Given the description of an element on the screen output the (x, y) to click on. 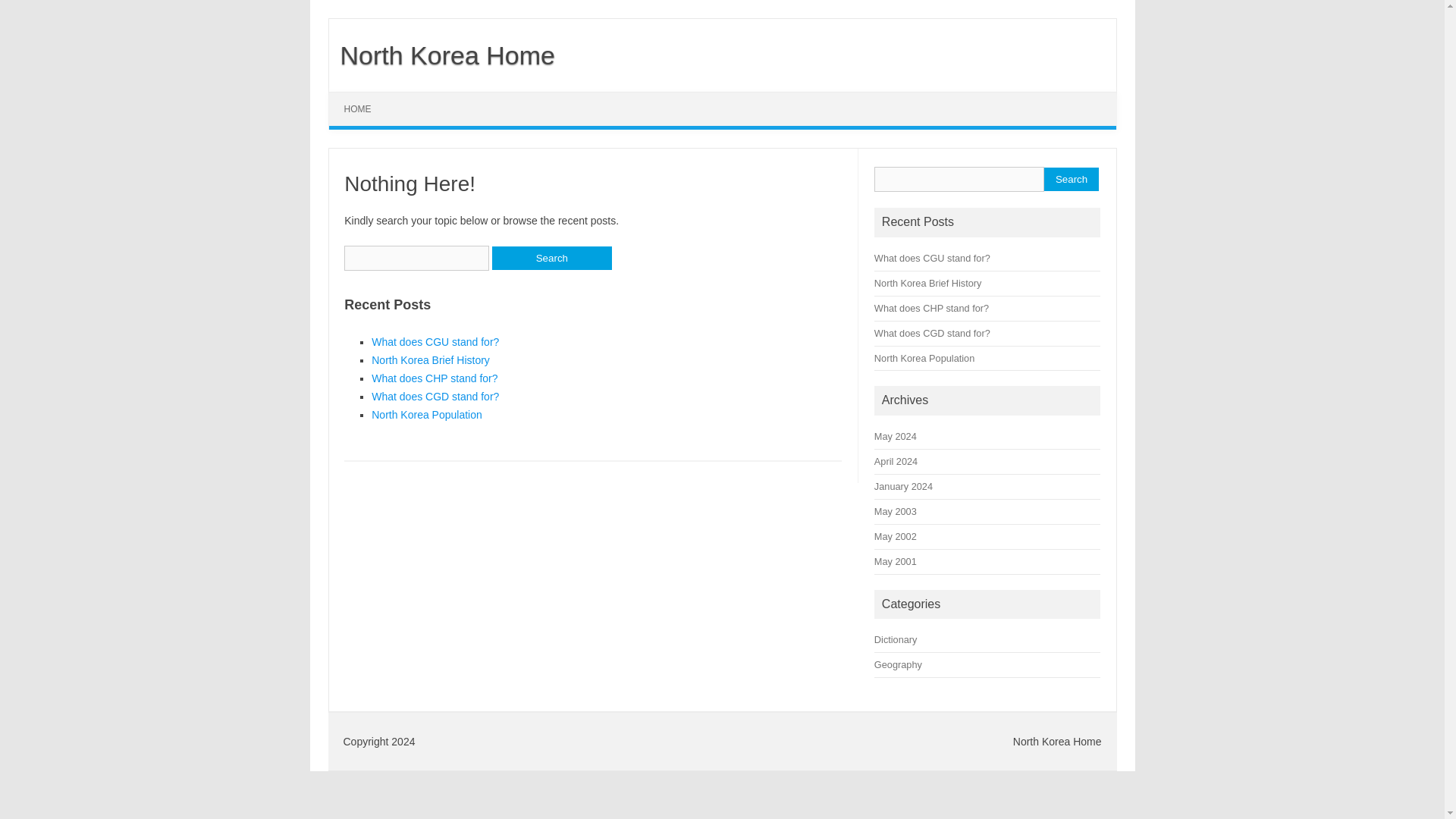
Search (551, 258)
January 2024 (904, 486)
May 2003 (896, 511)
What does CHP stand for? (931, 307)
Skip to content (363, 96)
Dictionary (896, 639)
North Korea Population (924, 357)
North Korea Population (426, 414)
What does CGD stand for? (932, 333)
What does CGU stand for? (932, 257)
